Given the description of an element on the screen output the (x, y) to click on. 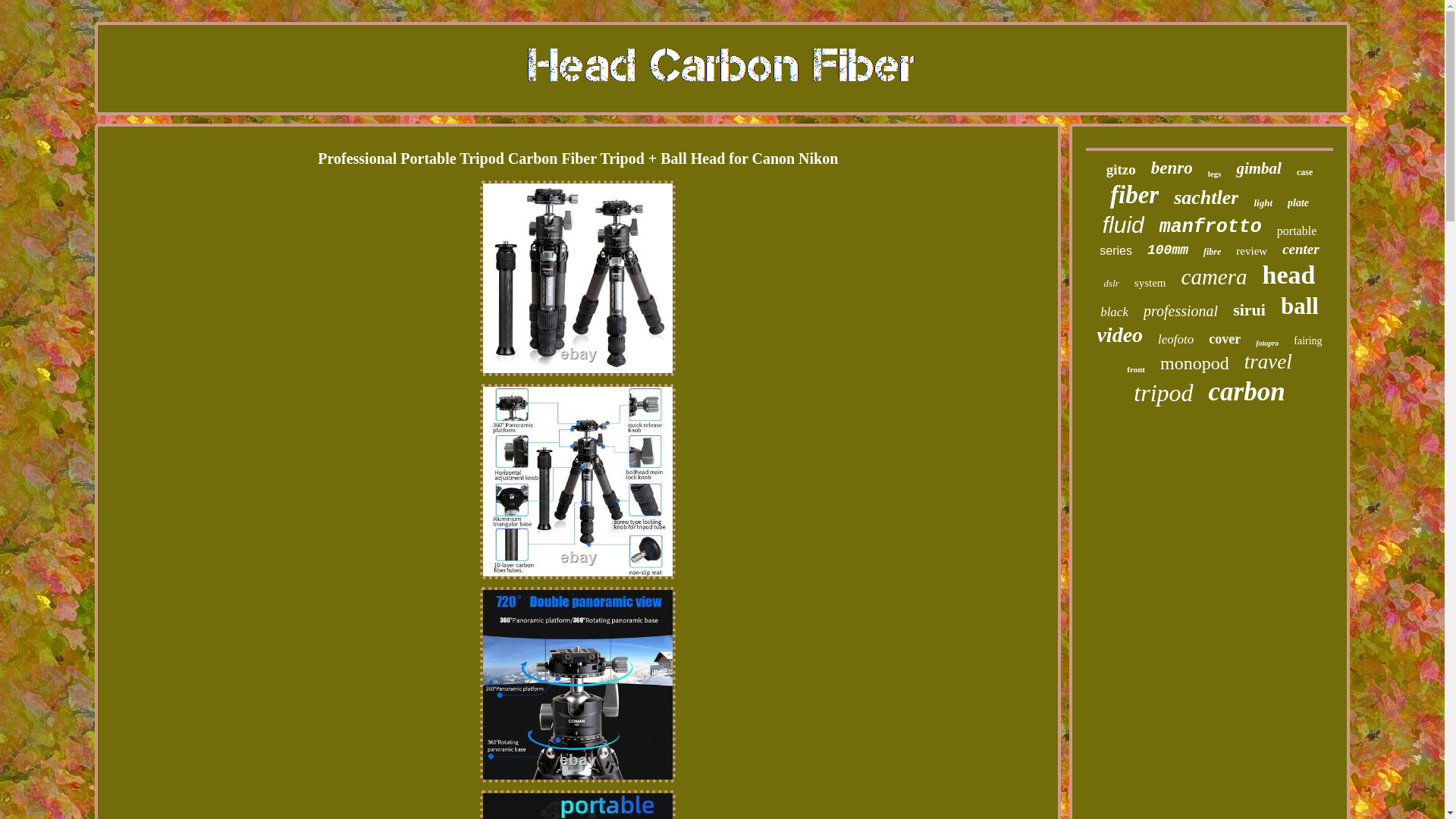
100mm (1167, 249)
black (1114, 312)
professional (1179, 311)
ball (1300, 306)
camera (1213, 276)
system (1150, 282)
sirui (1249, 310)
fibre (1212, 251)
portable (1296, 231)
legs (1214, 173)
